Given the description of an element on the screen output the (x, y) to click on. 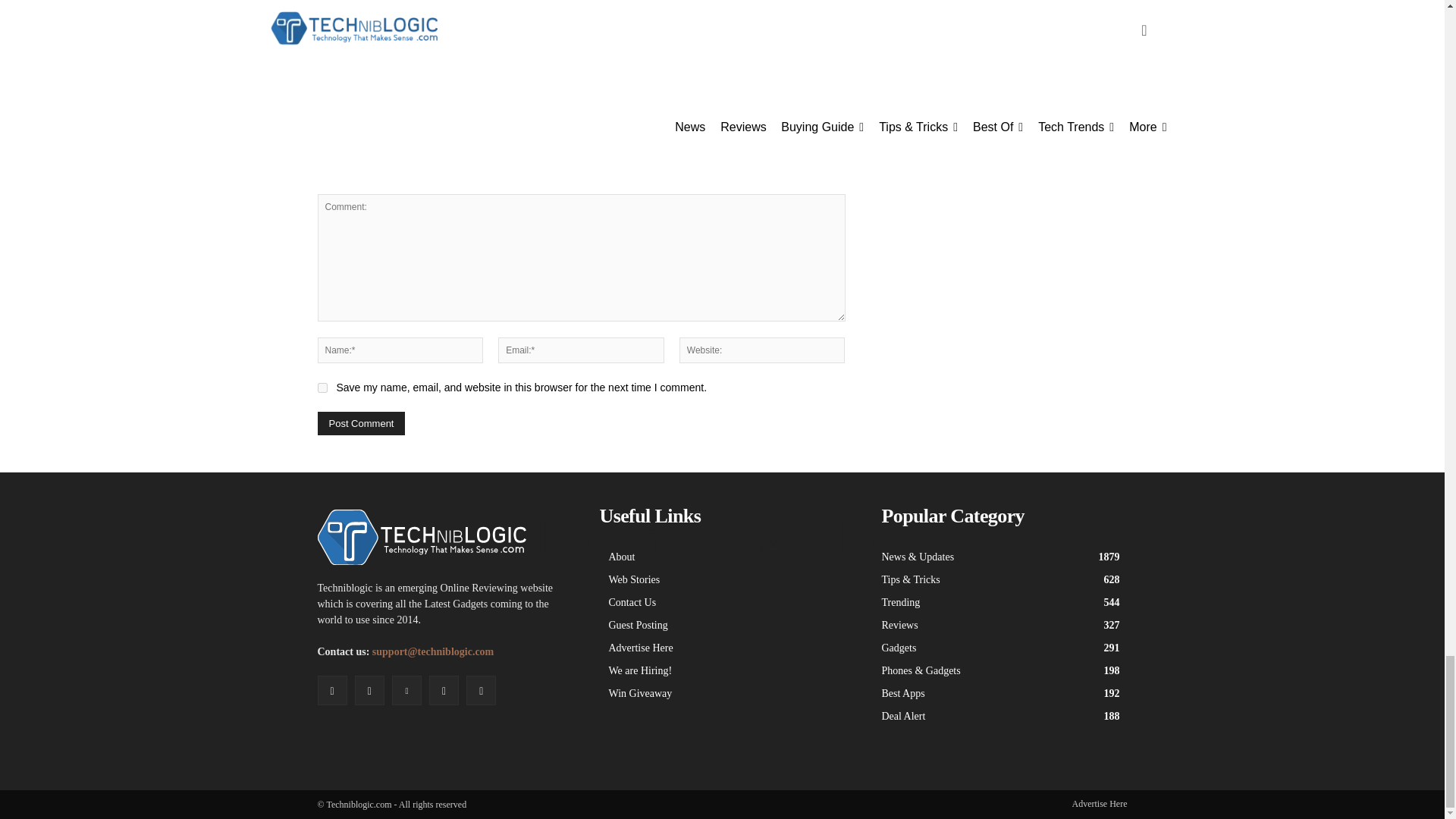
Post Comment (360, 422)
yes (321, 388)
